Given the description of an element on the screen output the (x, y) to click on. 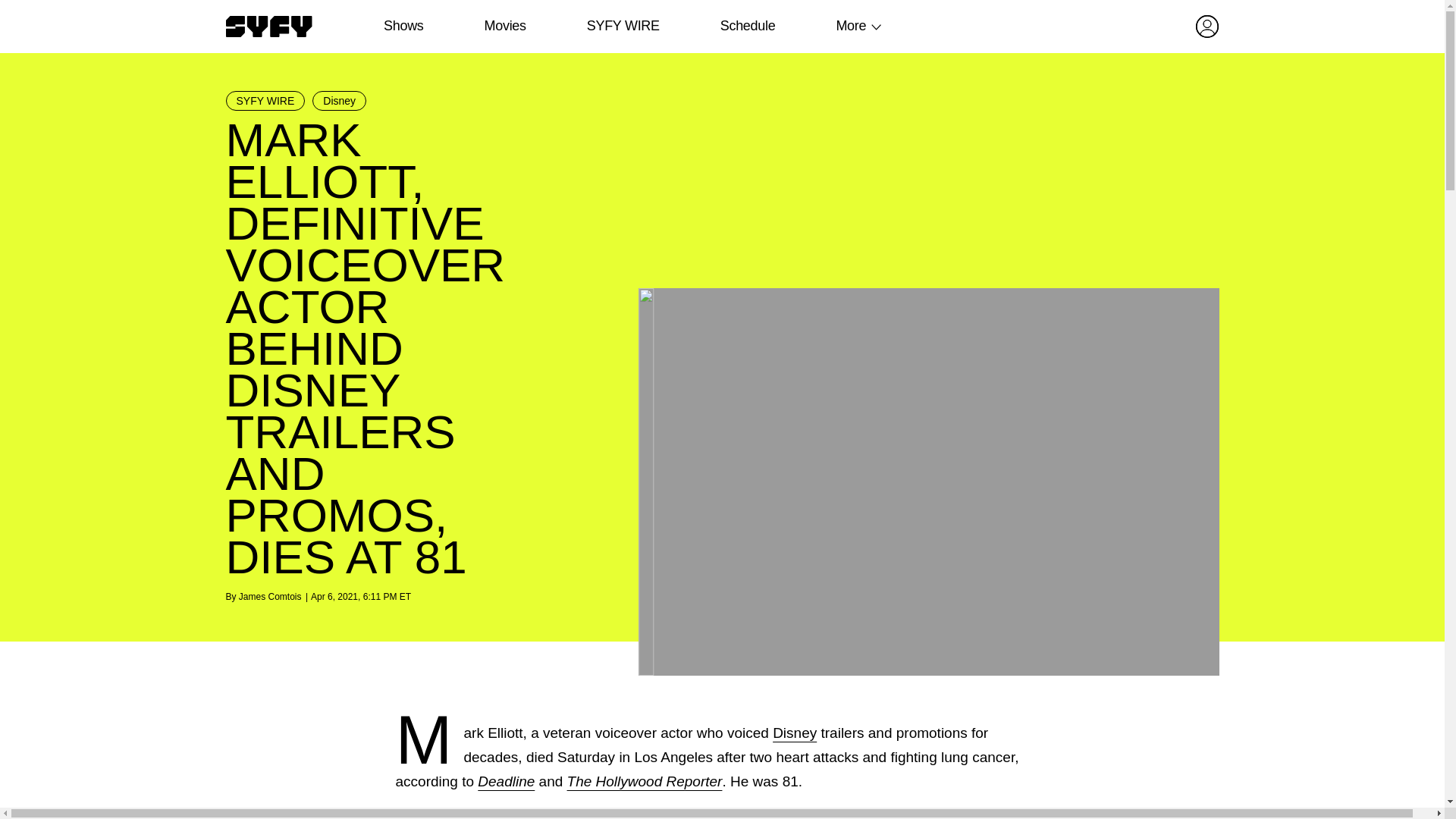
James Comtois (269, 596)
More (850, 26)
Disney (794, 732)
SYFY WIRE (265, 100)
The Hollywood Reporter (644, 781)
Schedule (746, 26)
Shows (403, 26)
Movies (504, 26)
Deadline (505, 781)
Disney (339, 100)
SYFY WIRE (622, 26)
